Given the description of an element on the screen output the (x, y) to click on. 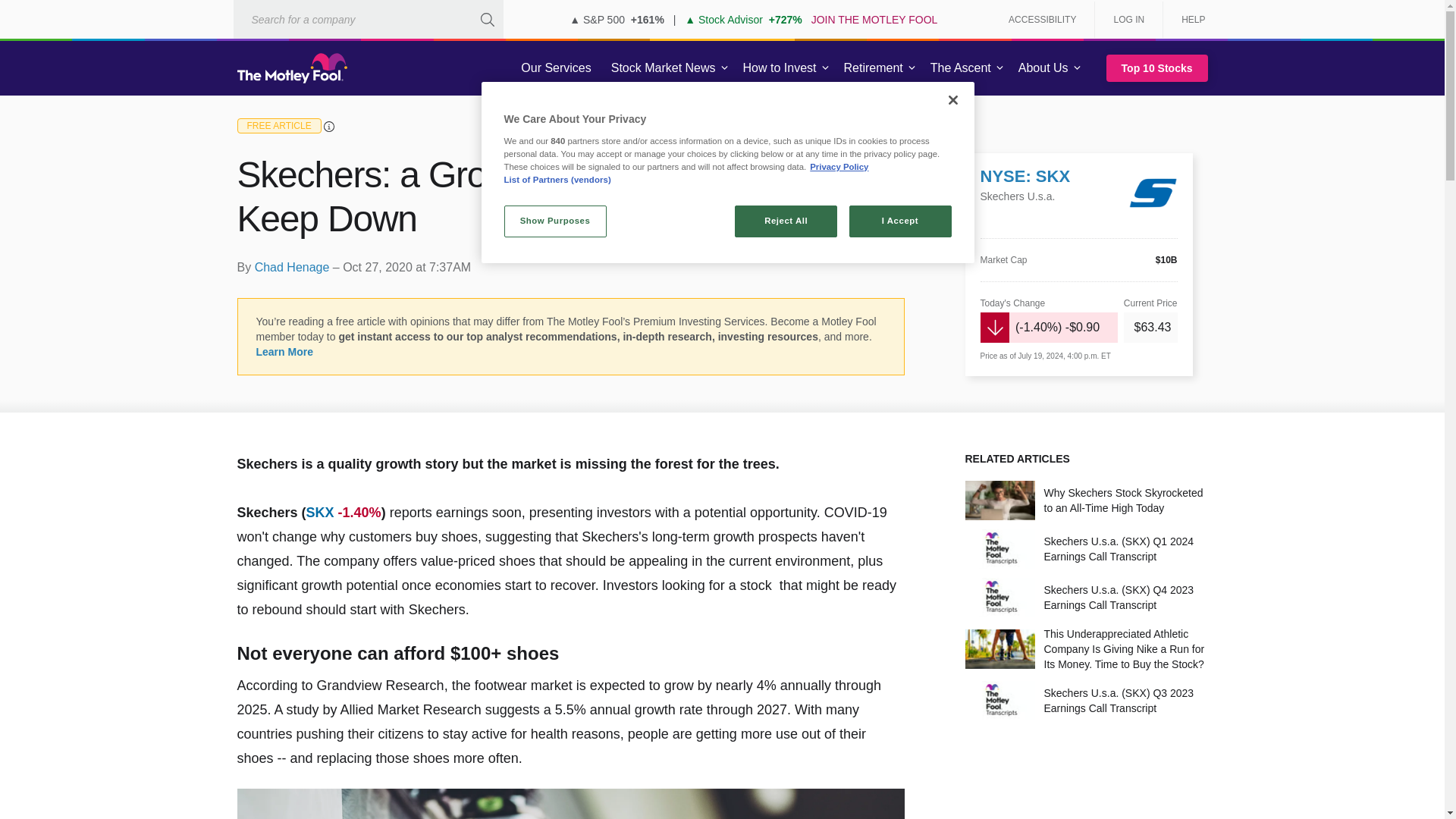
HELP (1187, 19)
Stock Market News (662, 67)
How to Invest (779, 67)
ACCESSIBILITY (1042, 19)
LOG IN (1128, 19)
Our Services (555, 67)
